Given the description of an element on the screen output the (x, y) to click on. 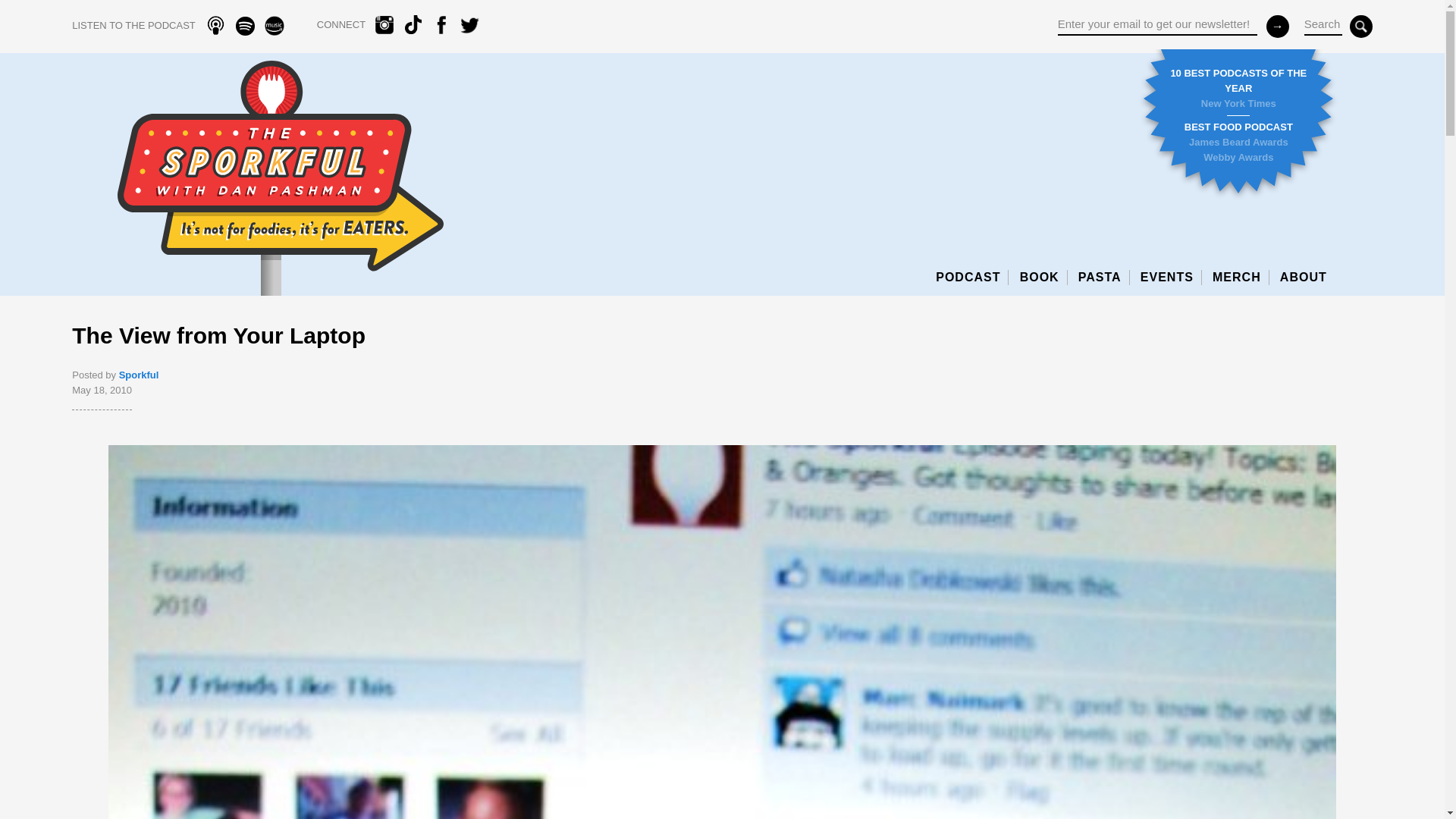
EVENTS (1171, 277)
Sporkful (138, 374)
Enter your email to get our newsletter! (1157, 26)
ABOUT (1302, 277)
Posts by Sporkful (138, 374)
PASTA (1103, 277)
Search (1323, 26)
PODCAST (972, 277)
BOOK (1043, 277)
MERCH (1240, 277)
